Given the description of an element on the screen output the (x, y) to click on. 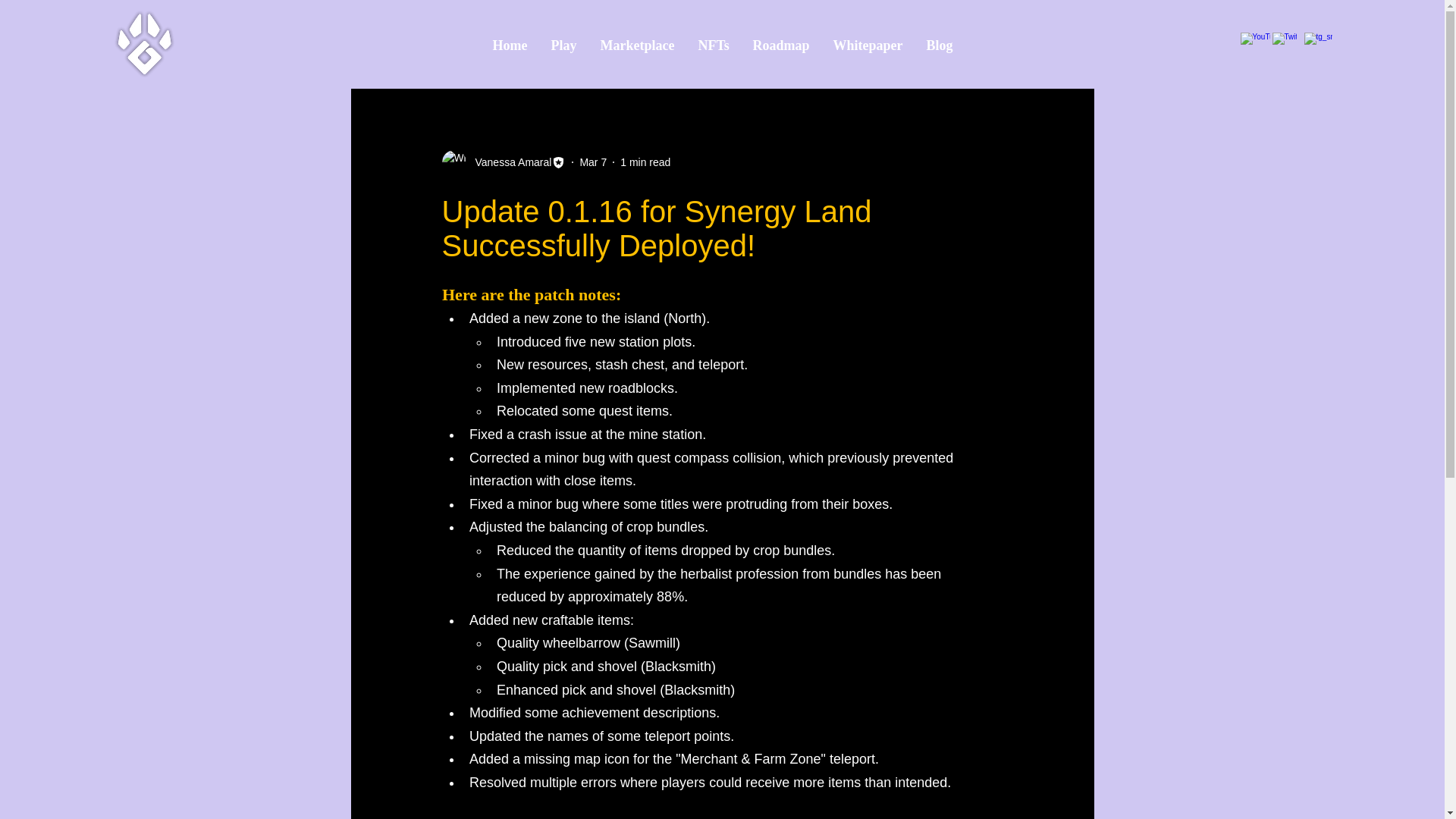
Blog (938, 44)
Play (564, 44)
Home (509, 44)
Vanessa Amaral (508, 162)
Mar 7 (593, 162)
Marketplace (636, 44)
1 min read (644, 162)
Roadmap (781, 44)
Whitepaper (868, 44)
